Given the description of an element on the screen output the (x, y) to click on. 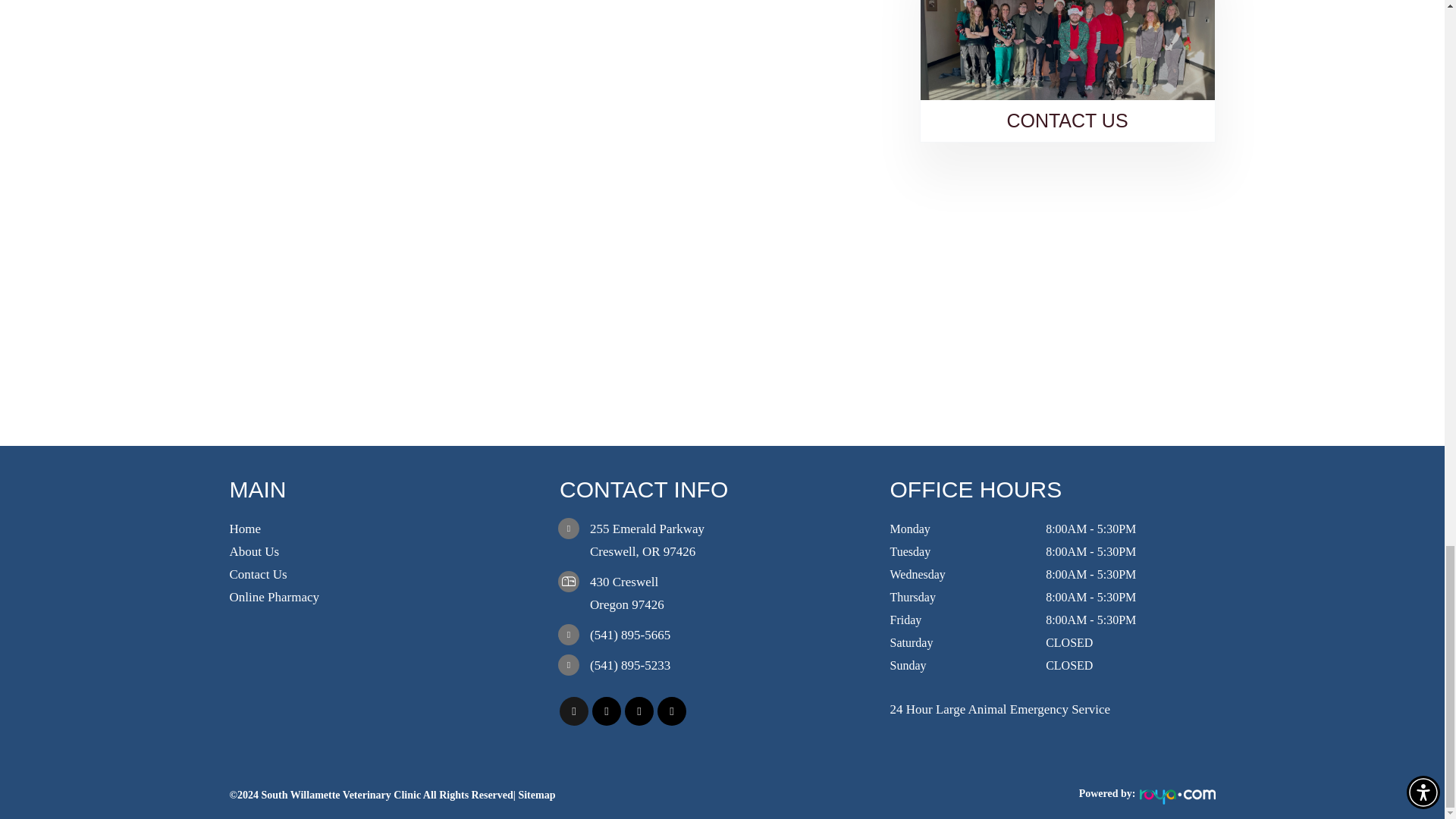
Roya (1176, 796)
